Given the description of an element on the screen output the (x, y) to click on. 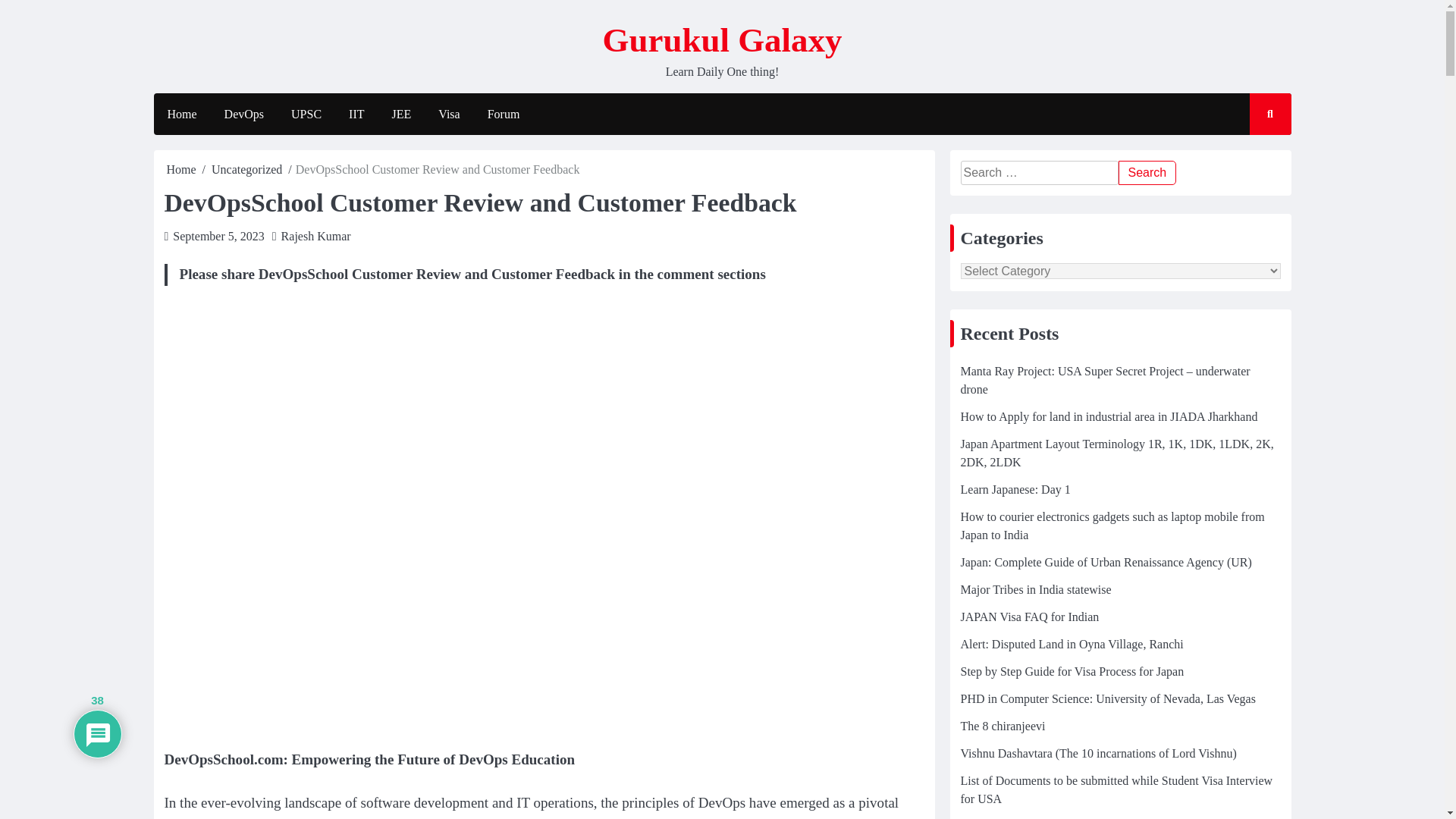
Uncategorized (246, 169)
UPSC (306, 114)
Forum (504, 114)
Home (181, 169)
JEE (401, 114)
Home (180, 114)
IIT (355, 114)
Visa (449, 114)
DevOps (244, 114)
Search (1147, 172)
Gurukul Galaxy (721, 39)
Search (1256, 158)
Search (1147, 172)
Rajesh Kumar (315, 236)
September 5, 2023 (218, 236)
